Given the description of an element on the screen output the (x, y) to click on. 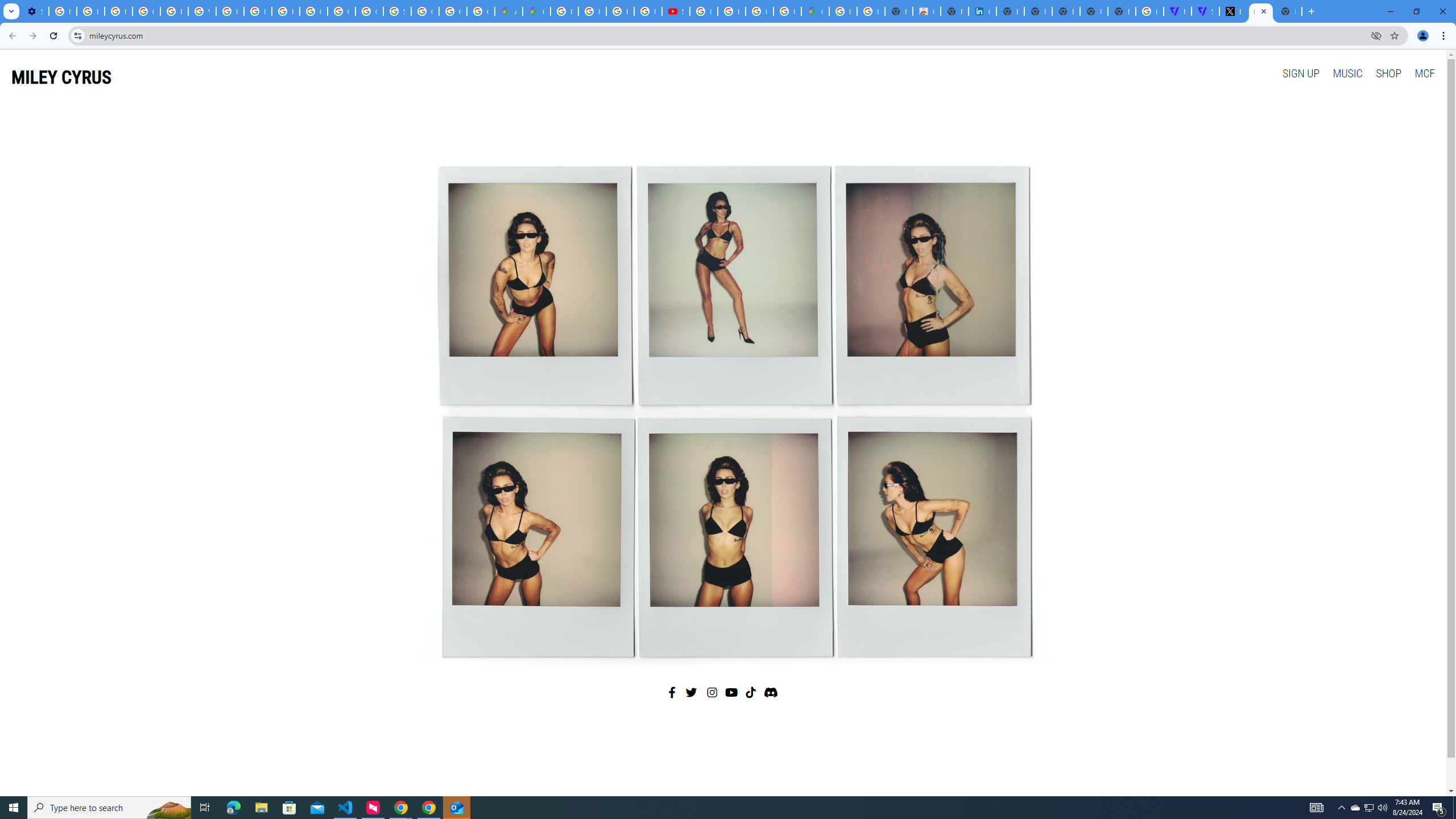
New Tab (1288, 11)
Google Maps (536, 11)
MILEY CYRUS (61, 77)
Privacy Help Center - Policies Help (257, 11)
SHOP (1387, 73)
